Given the description of an element on the screen output the (x, y) to click on. 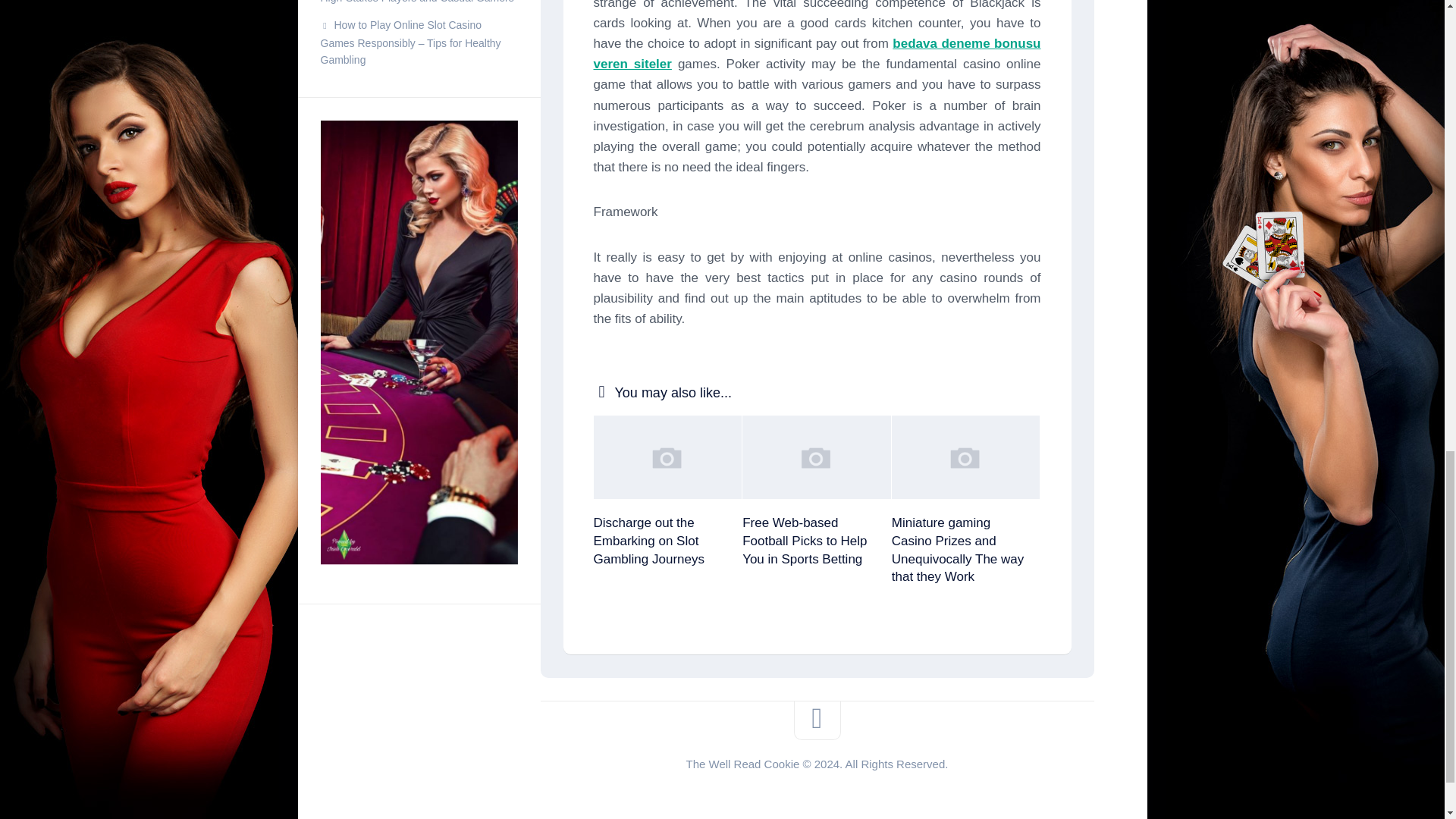
Free Web-based Football Picks to Help You in Sports Betting (804, 540)
bedava deneme bonusu veren siteler (816, 53)
Discharge out the Embarking on Slot Gambling Journeys (647, 540)
